Given the description of an element on the screen output the (x, y) to click on. 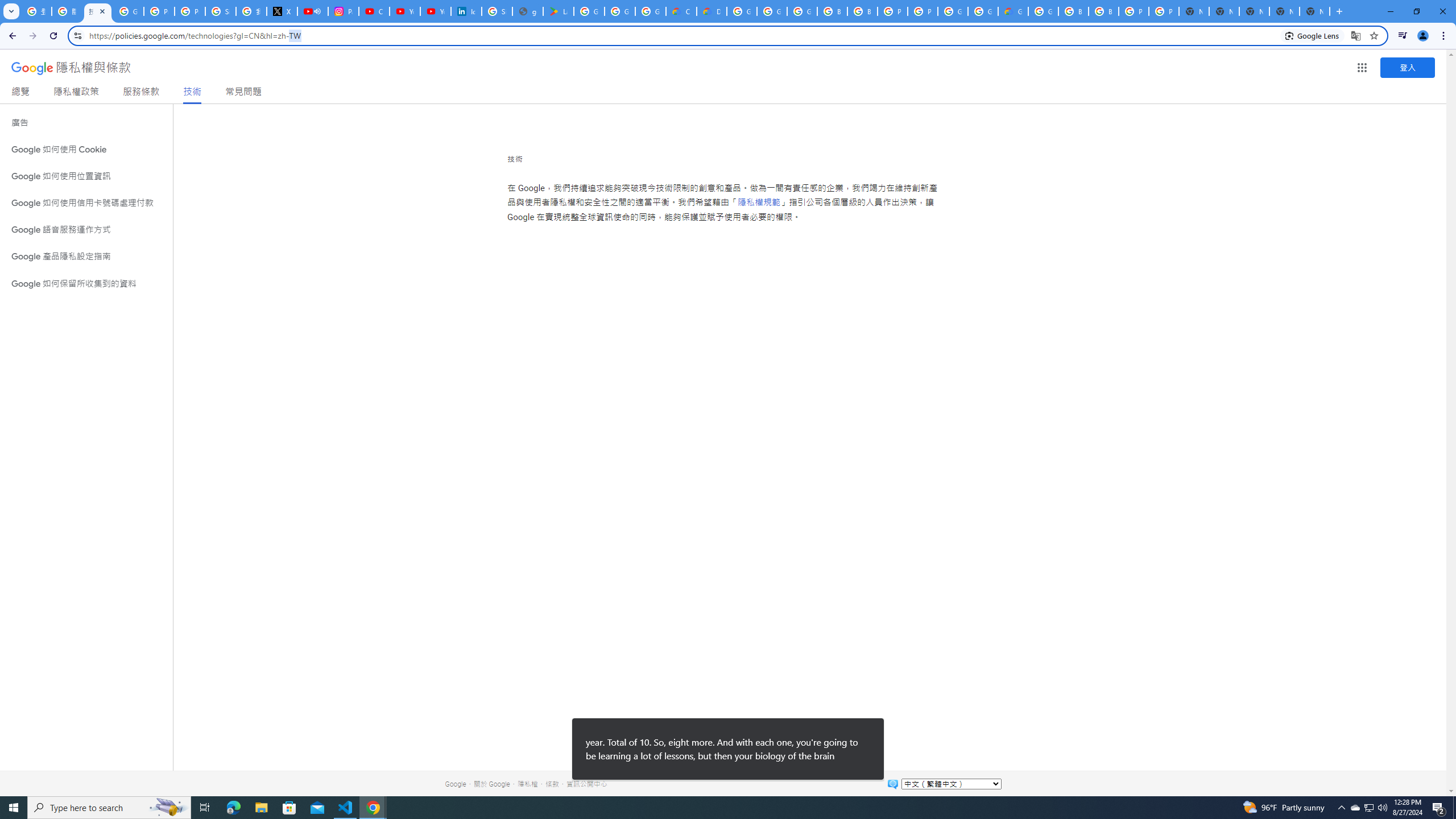
Browse Chrome as a guest - Computer - Google Chrome Help (832, 11)
Search with Google Lens (1311, 35)
Privacy Help Center - Policies Help (189, 11)
Privacy Help Center - Policies Help (158, 11)
New Tab (1314, 11)
